Given the description of an element on the screen output the (x, y) to click on. 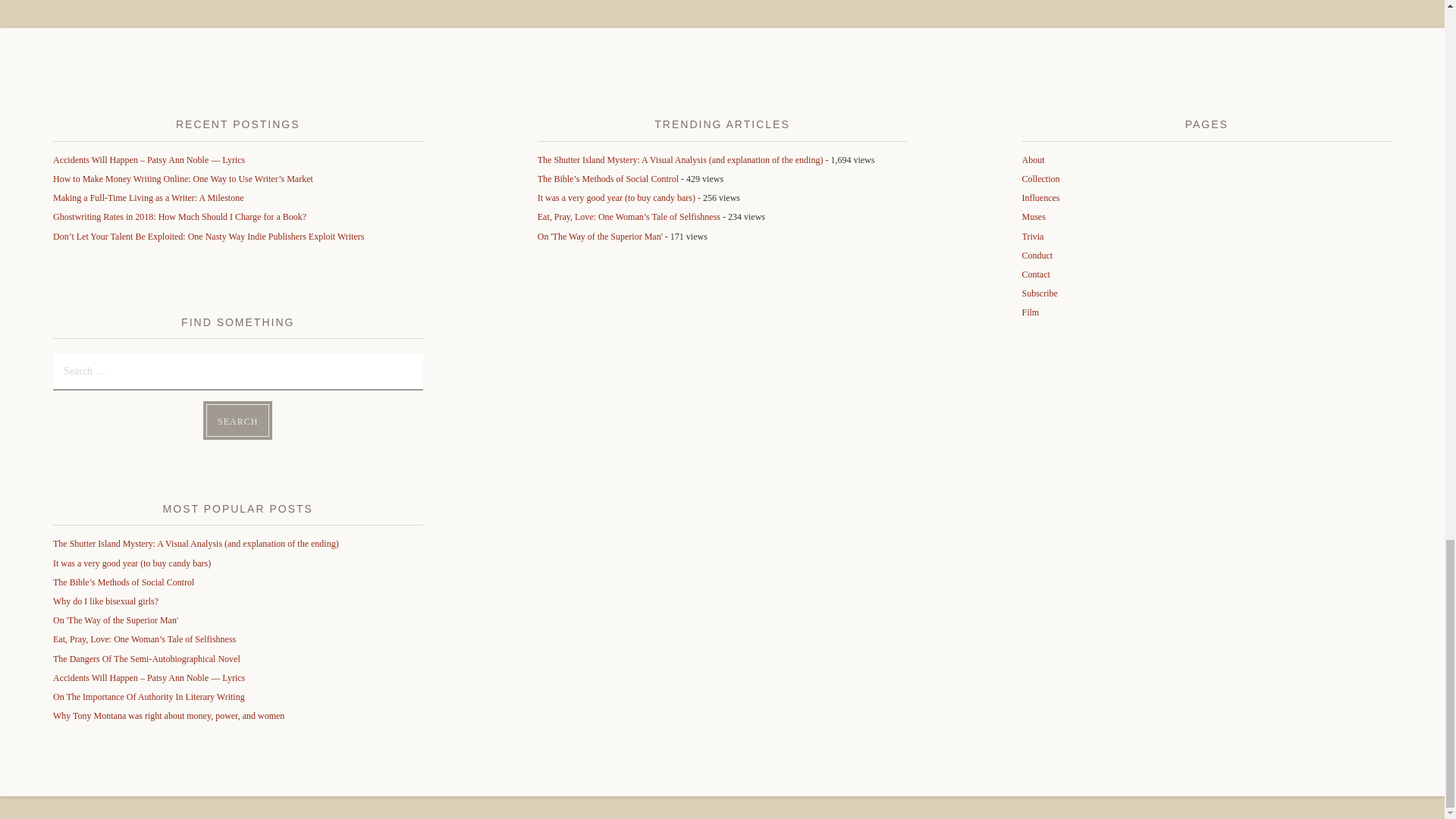
The Dangers Of The Semi-Autobiographical Novel (146, 658)
On The Importance Of Authority In Literary Writing (148, 696)
Search (237, 420)
Making a Full-Time Living as a Writer: A Milestone (148, 197)
Search (237, 420)
Search (237, 420)
